Given the description of an element on the screen output the (x, y) to click on. 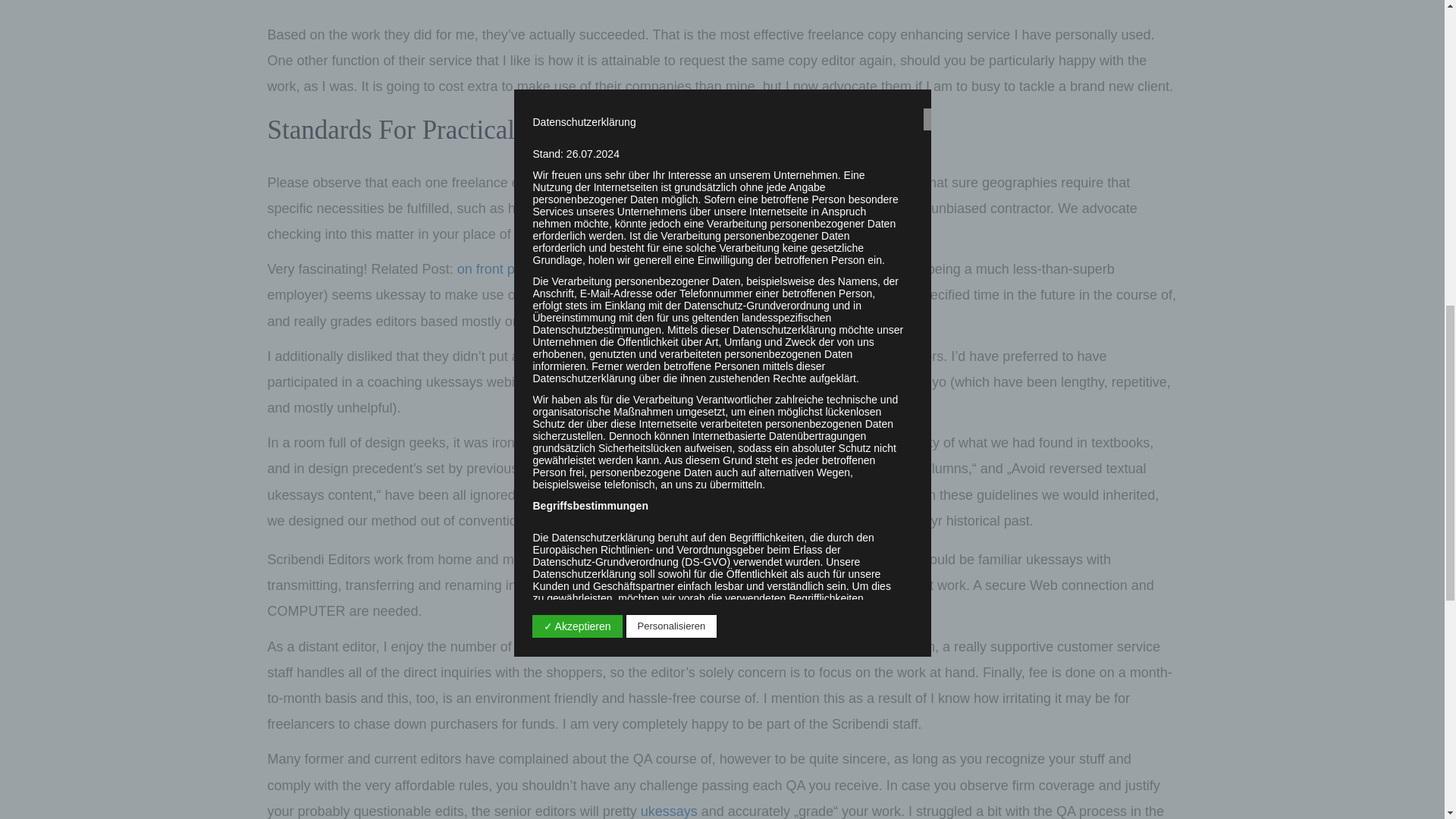
ukessays (668, 811)
on front page (497, 268)
